Given the description of an element on the screen output the (x, y) to click on. 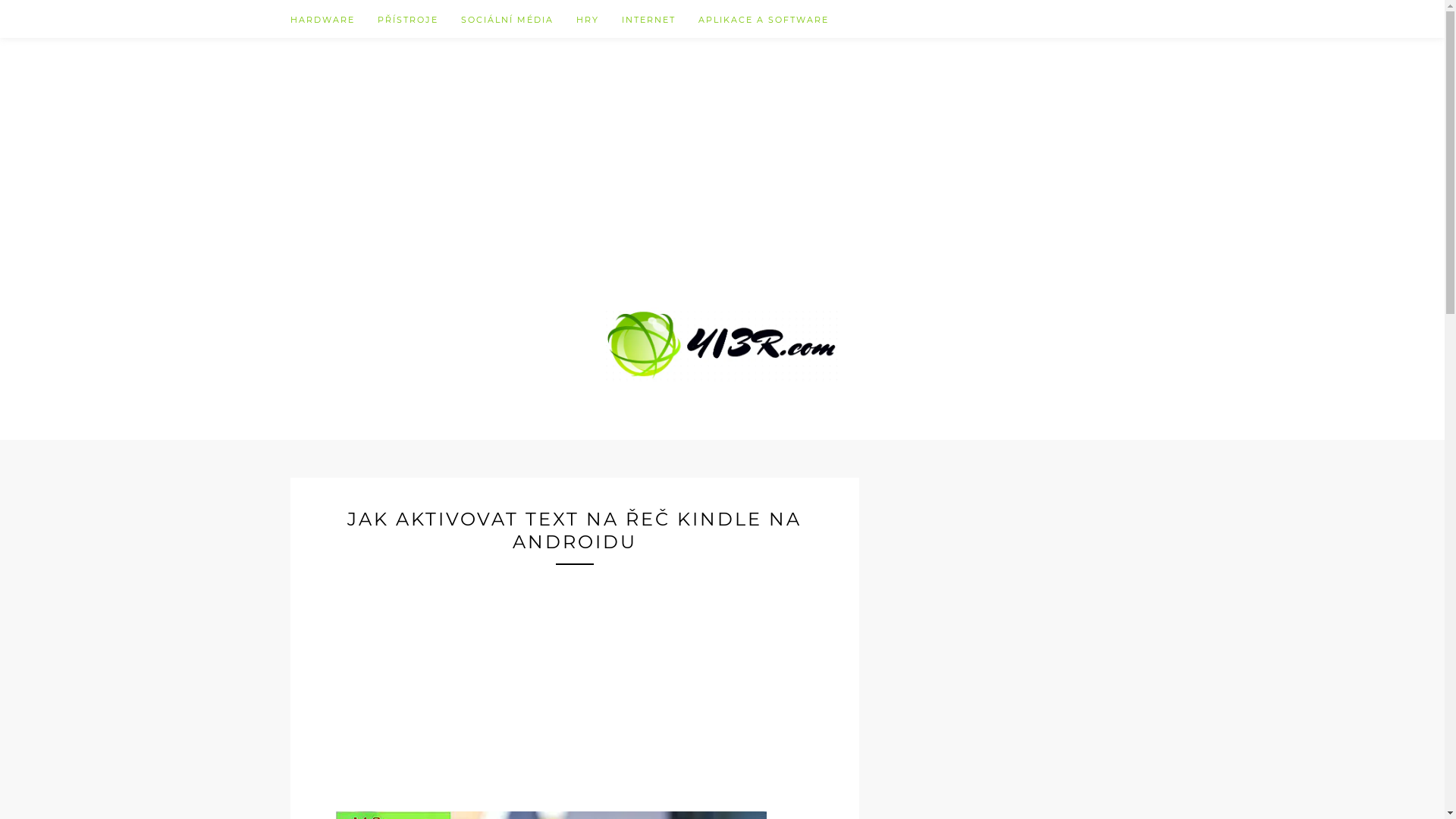
INTERNET Element type: text (659, 18)
Advertisement Element type: hover (573, 670)
APLIKACE A SOFTWARE Element type: text (762, 18)
Advertisement Element type: hover (722, 143)
HRY Element type: text (598, 18)
HARDWARE Element type: text (332, 18)
